Given the description of an element on the screen output the (x, y) to click on. 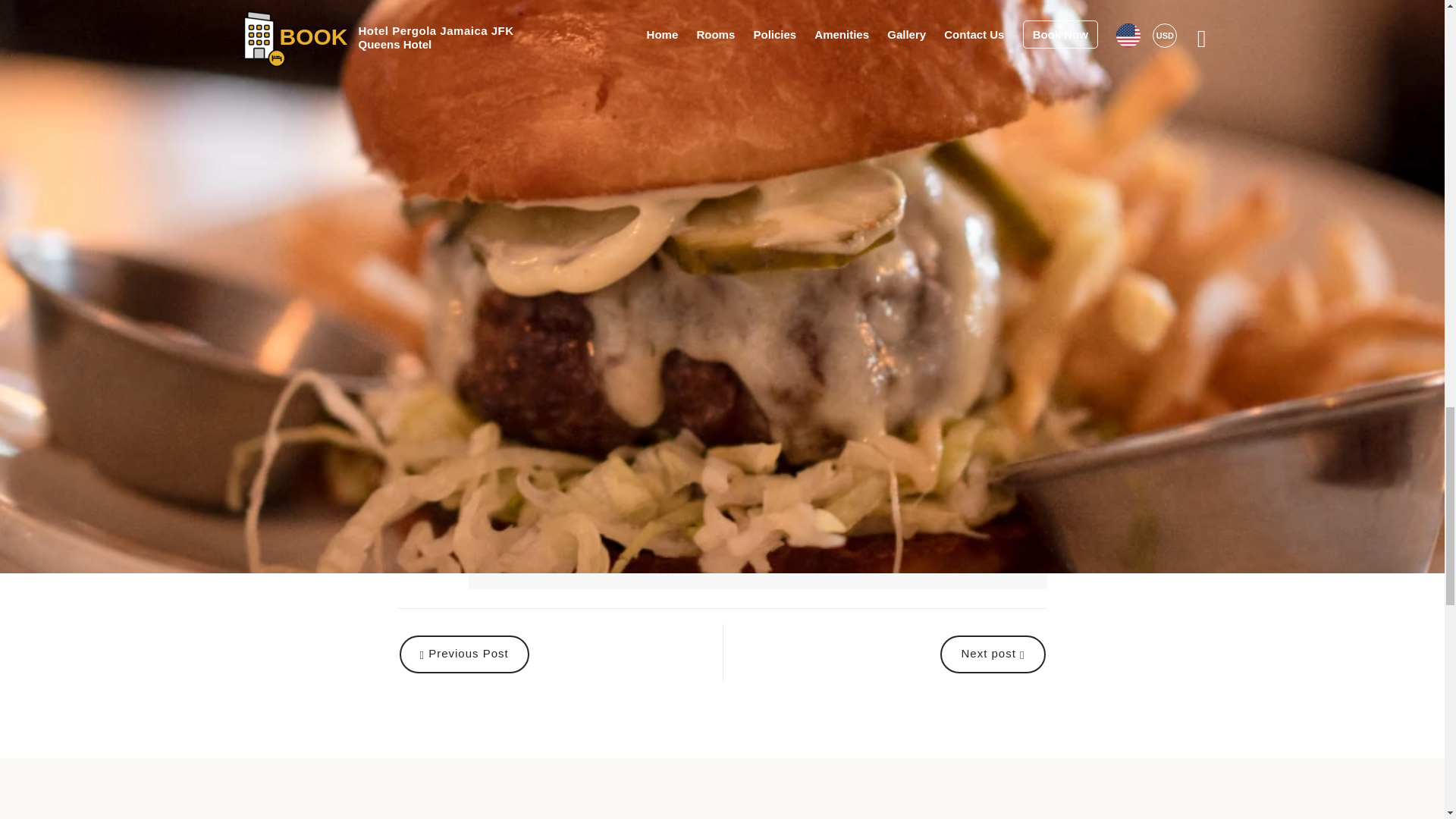
Mia Bach (508, 518)
Dining (527, 355)
Previous Post (560, 652)
Next post (883, 652)
Local Favorites (443, 393)
International Cuisines (704, 355)
NY (478, 355)
Culinary Journey (545, 393)
Queens (425, 355)
Restaurants (597, 355)
Flavors (630, 393)
